Given the description of an element on the screen output the (x, y) to click on. 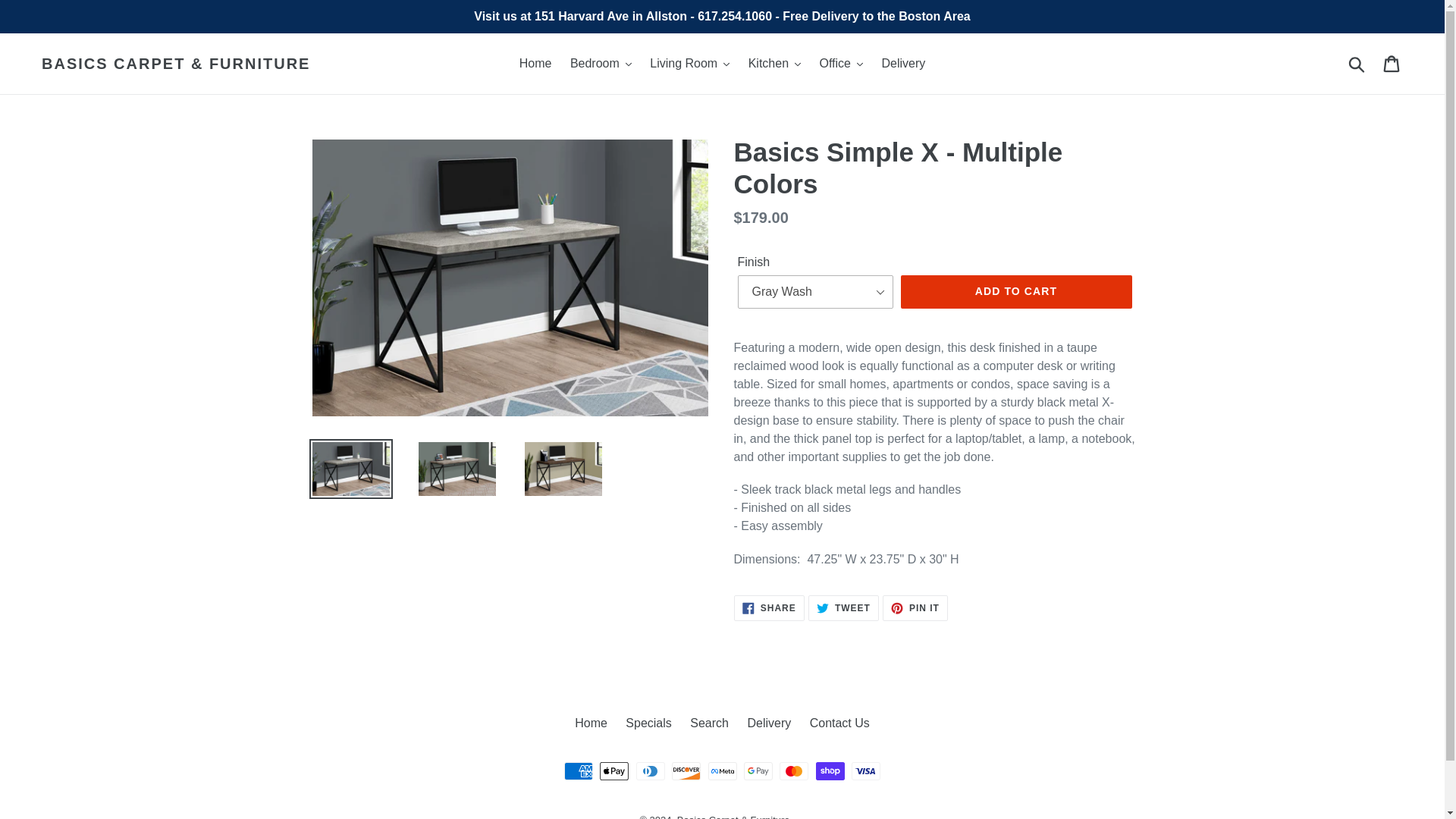
Home (535, 63)
Delivery (903, 63)
Cart (1392, 63)
Submit (1357, 63)
